Given the description of an element on the screen output the (x, y) to click on. 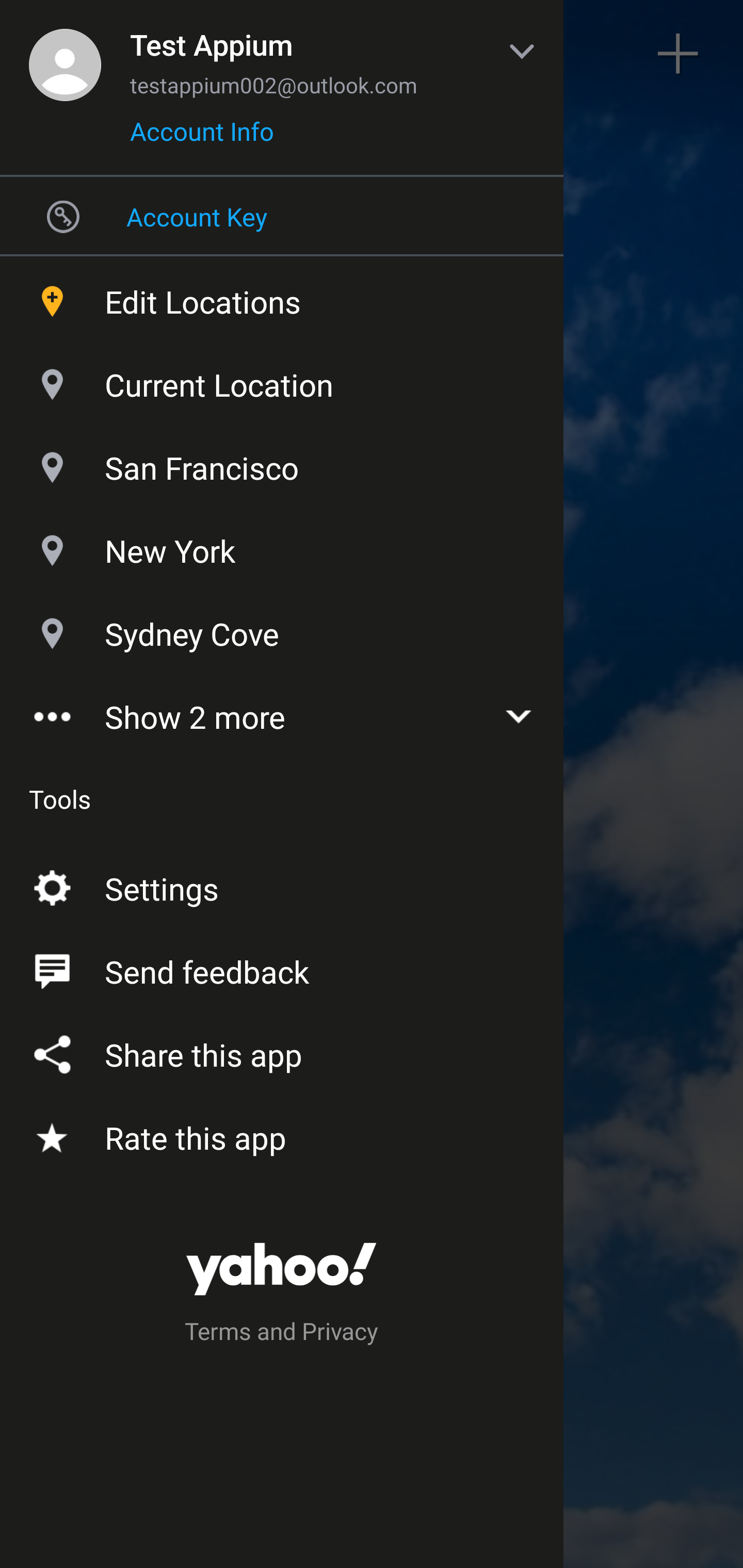
Sidebar (64, 54)
Account Info (202, 137)
Account Key (281, 216)
Edit Locations (281, 296)
Current Location (281, 379)
San Francisco (281, 462)
New York (281, 546)
Sydney Cove (281, 629)
Settings (281, 884)
Send feedback (281, 967)
Share this app (281, 1050)
Terms and Privacy Terms and privacy button (281, 1334)
